Given the description of an element on the screen output the (x, y) to click on. 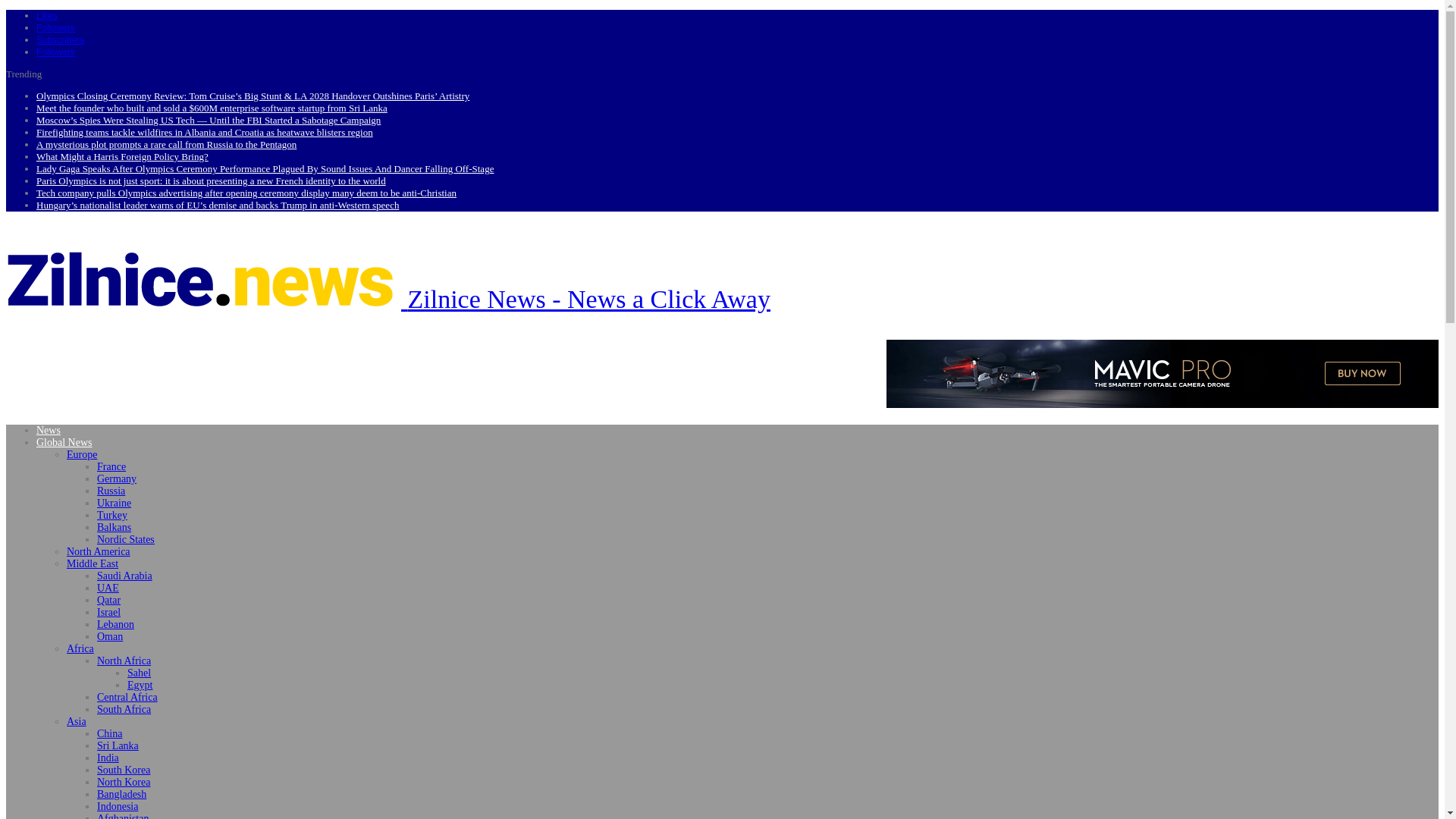
Followers (55, 27)
News (48, 430)
Israel (108, 612)
Subscribers (60, 39)
Ukraine (114, 502)
What Might a Harris Foreign Policy Bring? (122, 156)
Sahel (139, 672)
Oman (109, 636)
